Given the description of an element on the screen output the (x, y) to click on. 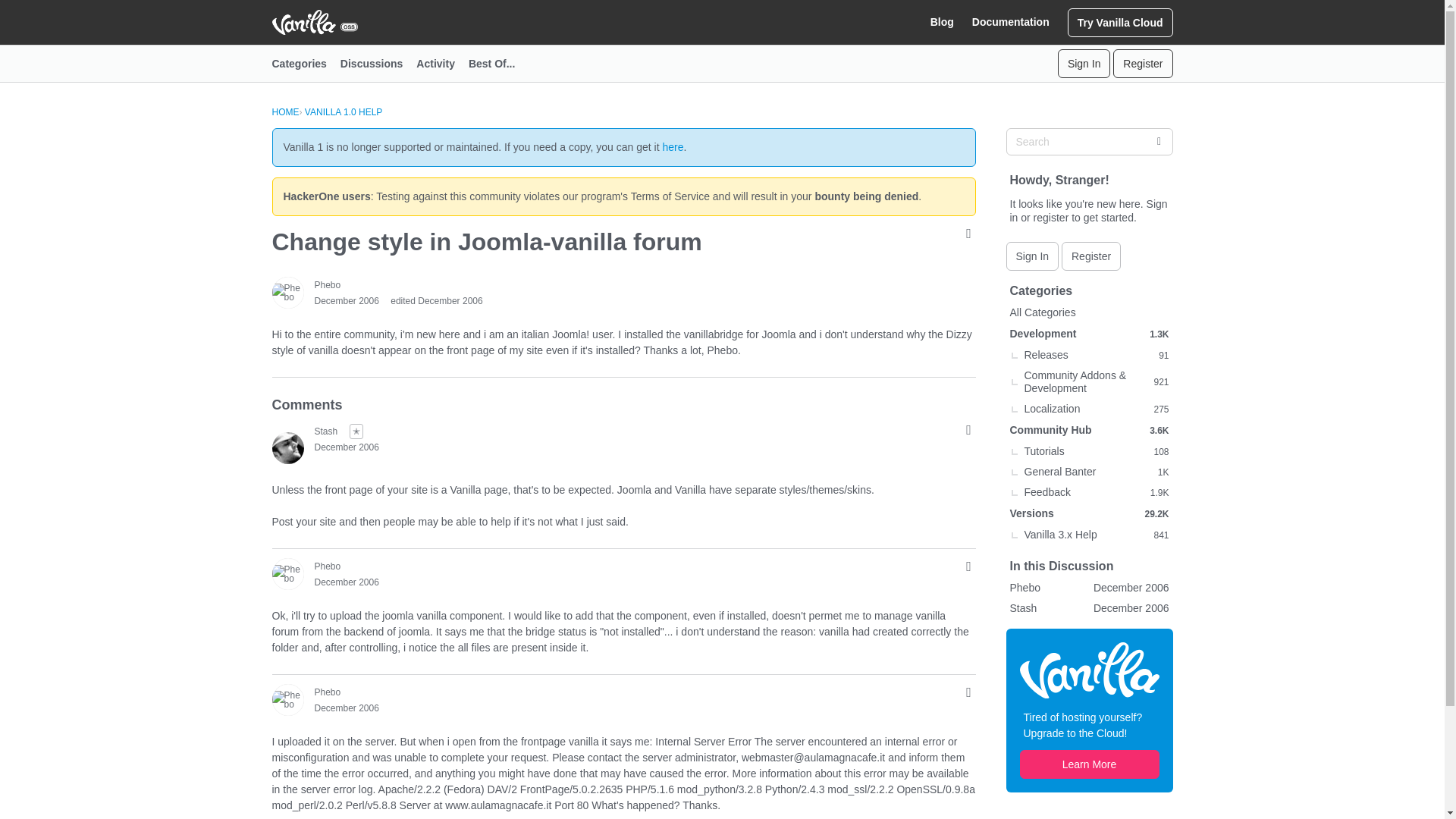
Discussions (378, 63)
Activity (442, 63)
Documentation (1011, 22)
Go (1158, 141)
Phebo (327, 284)
Enter your search term. (1089, 141)
Vanilla (1088, 669)
Categories (304, 63)
1,288 discussions (1159, 334)
Edited December 24, 2006 7:48AM by Phebo. (435, 300)
Try Vanilla Cloud (1120, 21)
Sign In (1084, 63)
Stash (286, 448)
Level 1 (355, 431)
Phebo (286, 699)
